Given the description of an element on the screen output the (x, y) to click on. 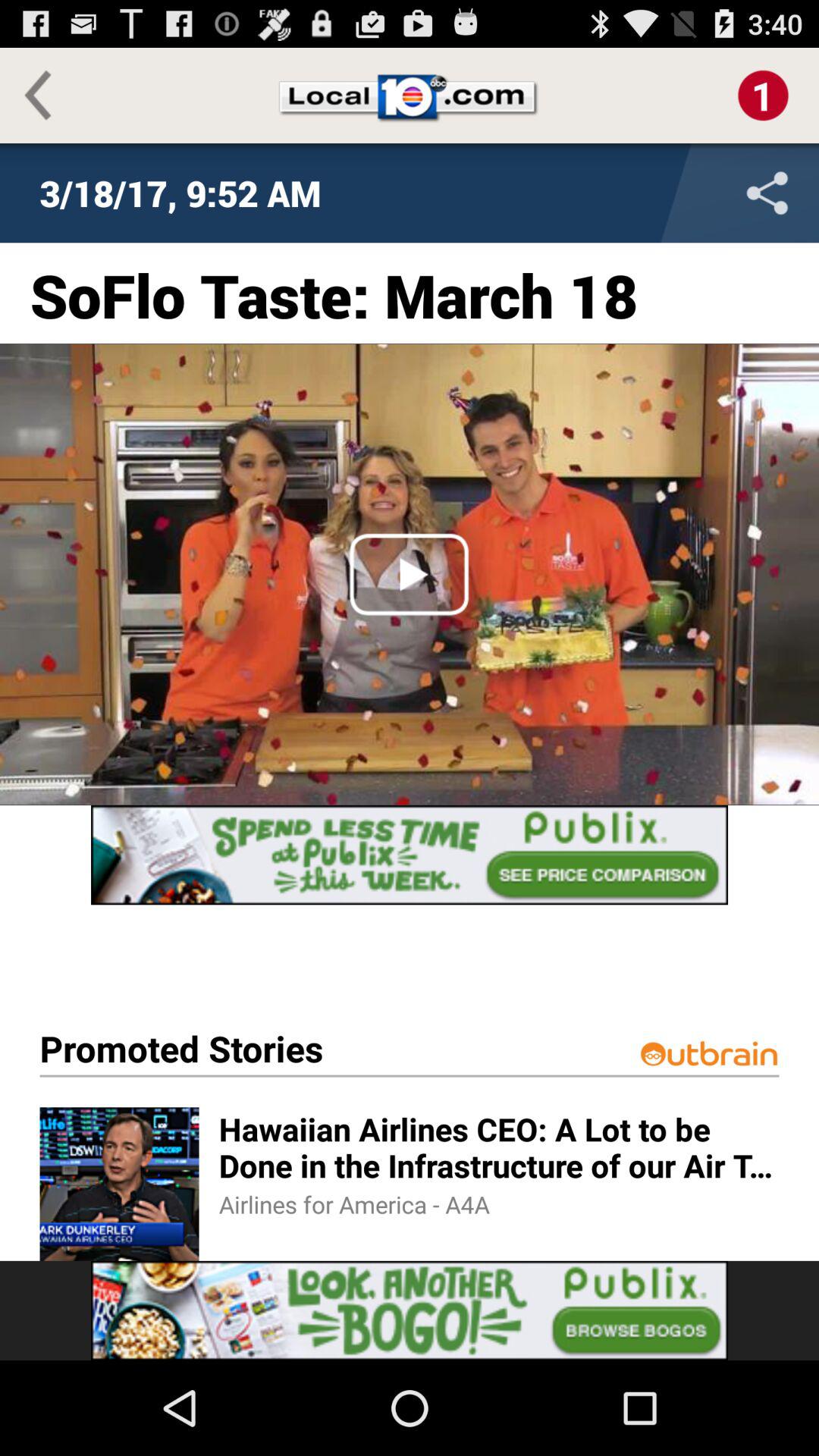
play video (409, 574)
